Given the description of an element on the screen output the (x, y) to click on. 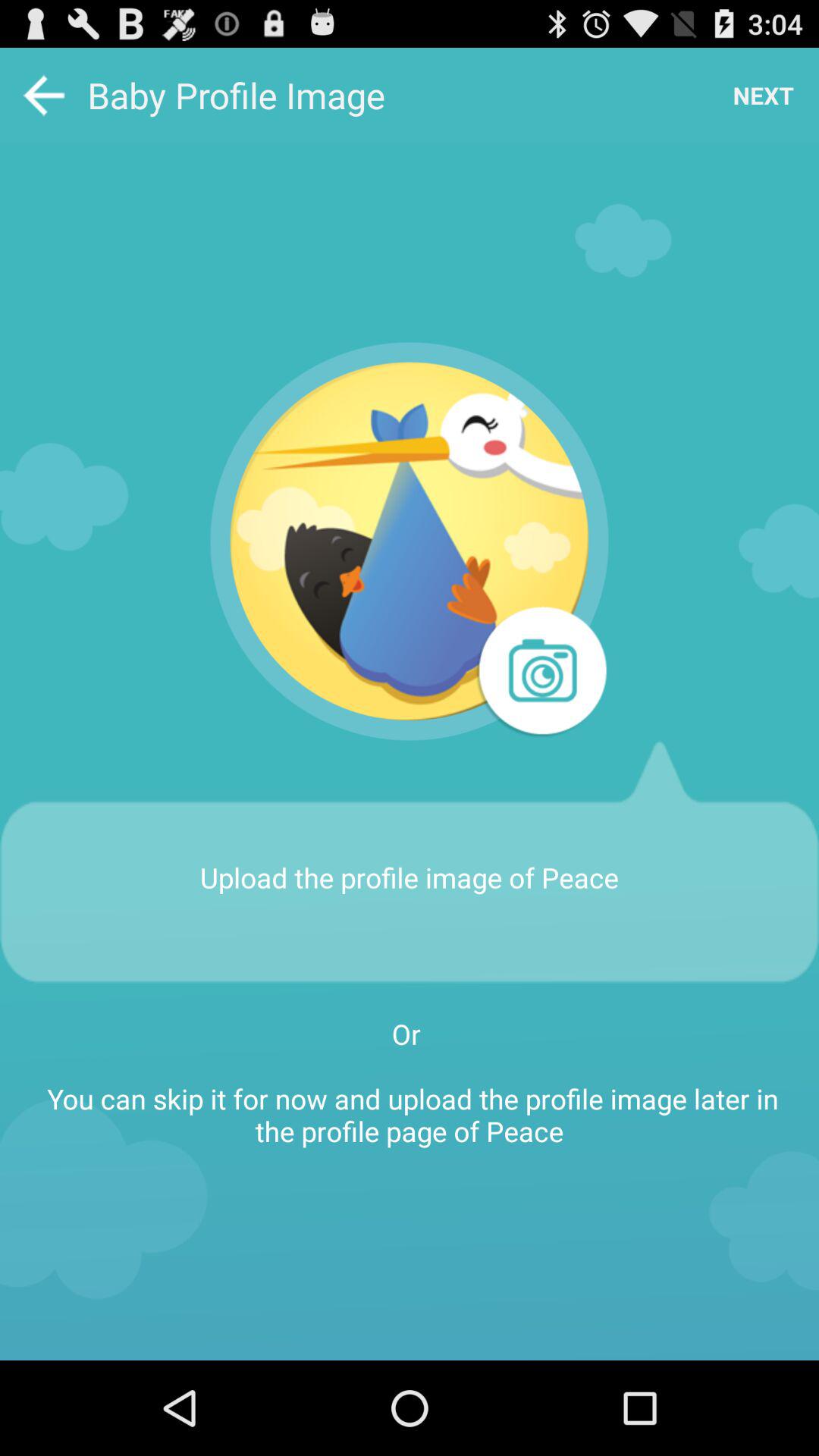
click the next icon (763, 95)
